Given the description of an element on the screen output the (x, y) to click on. 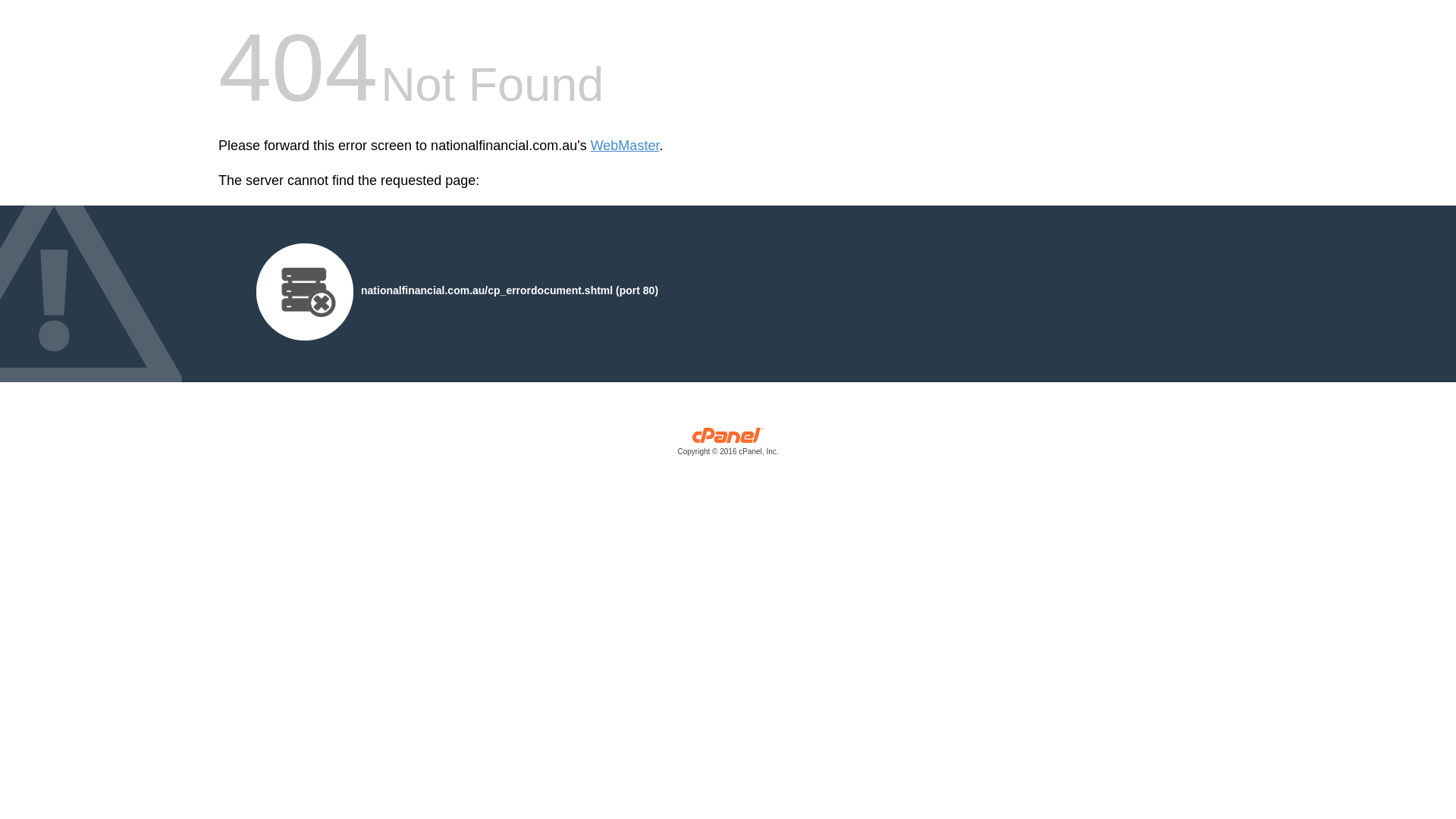
WebMaster Element type: text (624, 145)
